Given the description of an element on the screen output the (x, y) to click on. 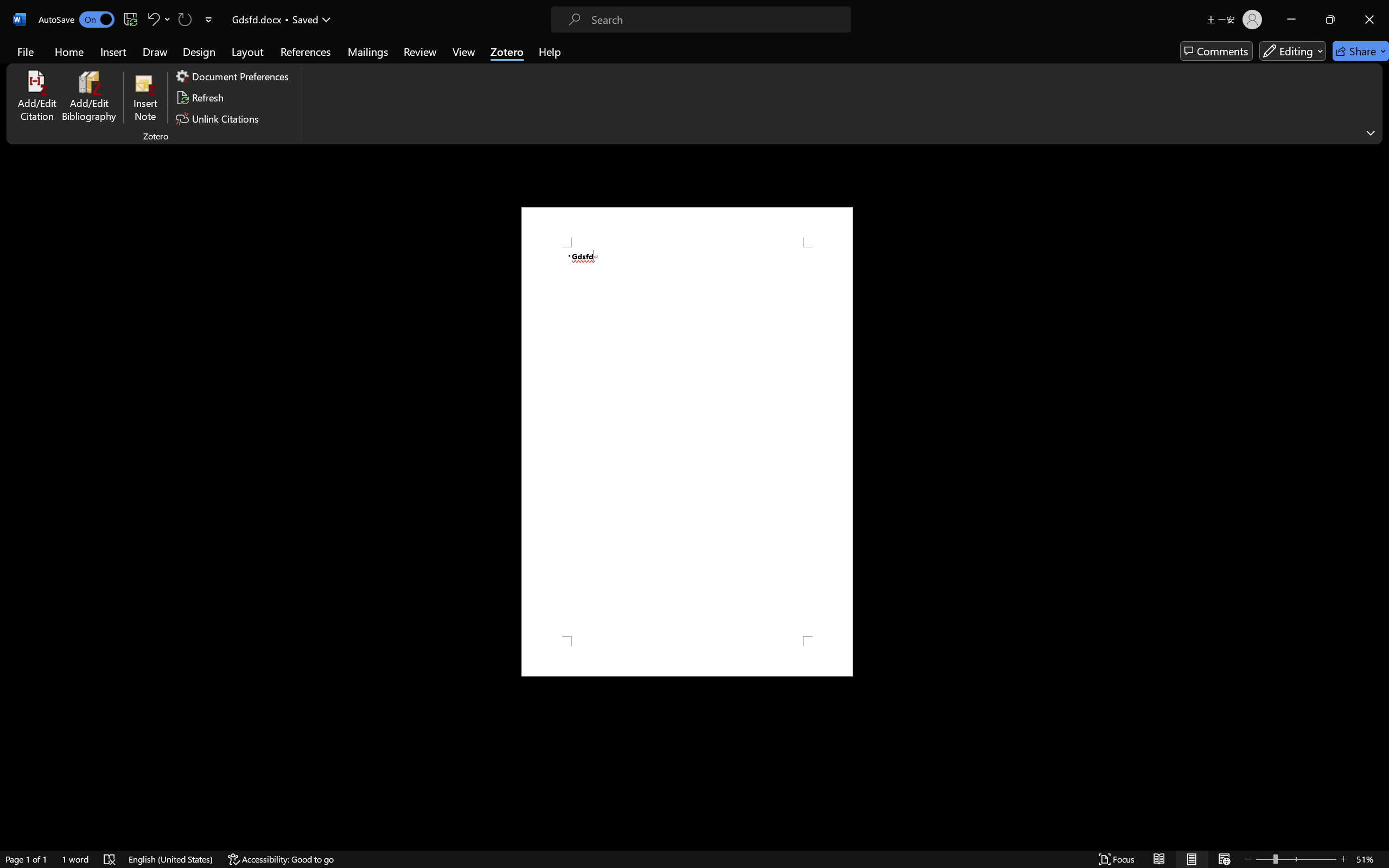
Page 1 content (686, 441)
